Given the description of an element on the screen output the (x, y) to click on. 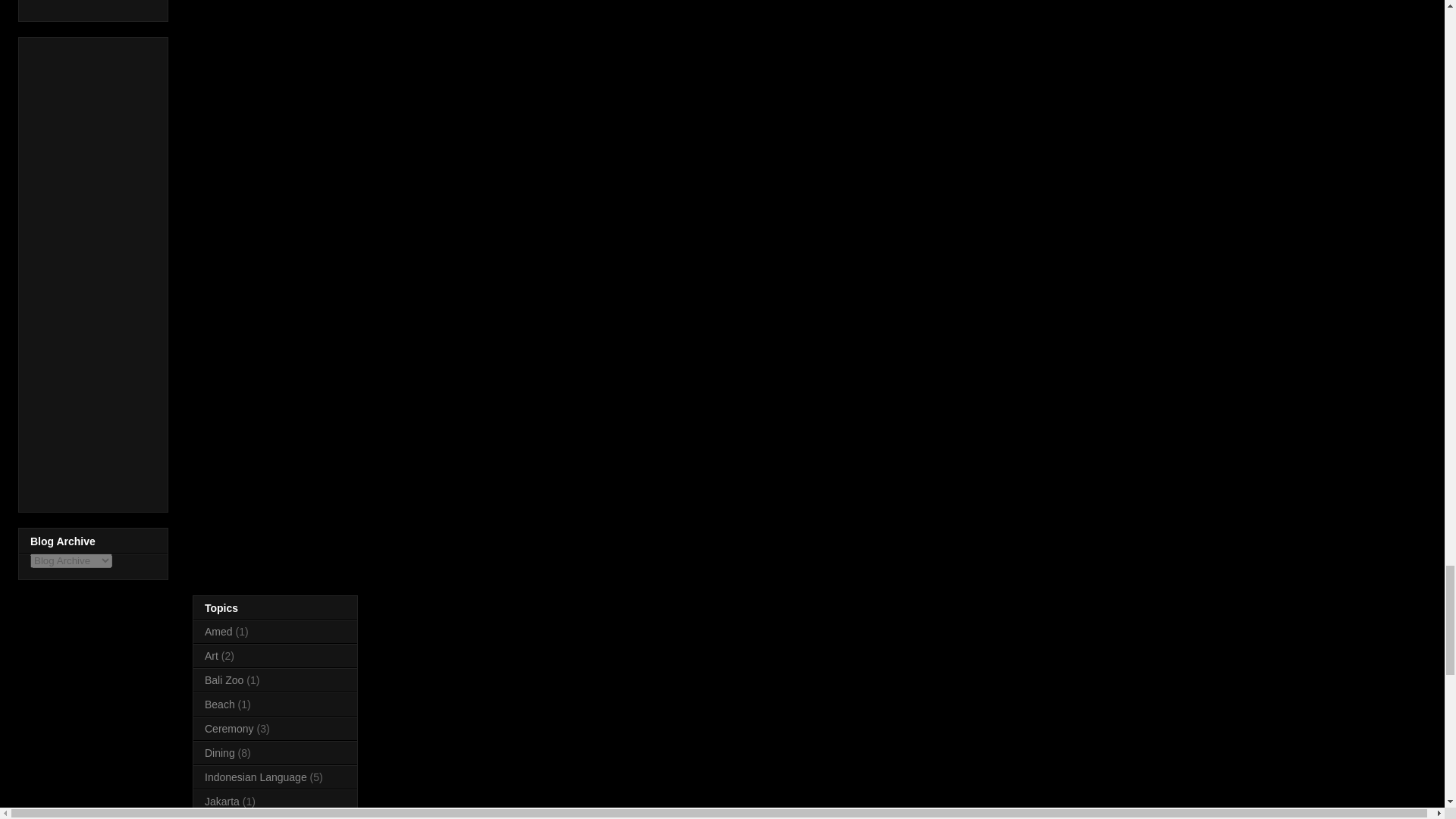
Indonesian Language (256, 776)
Jakarta (222, 801)
Amed (218, 631)
Beach (219, 704)
Ceremony (229, 728)
Bali Zoo (224, 680)
Dining (219, 752)
Art (211, 655)
